Given the description of an element on the screen output the (x, y) to click on. 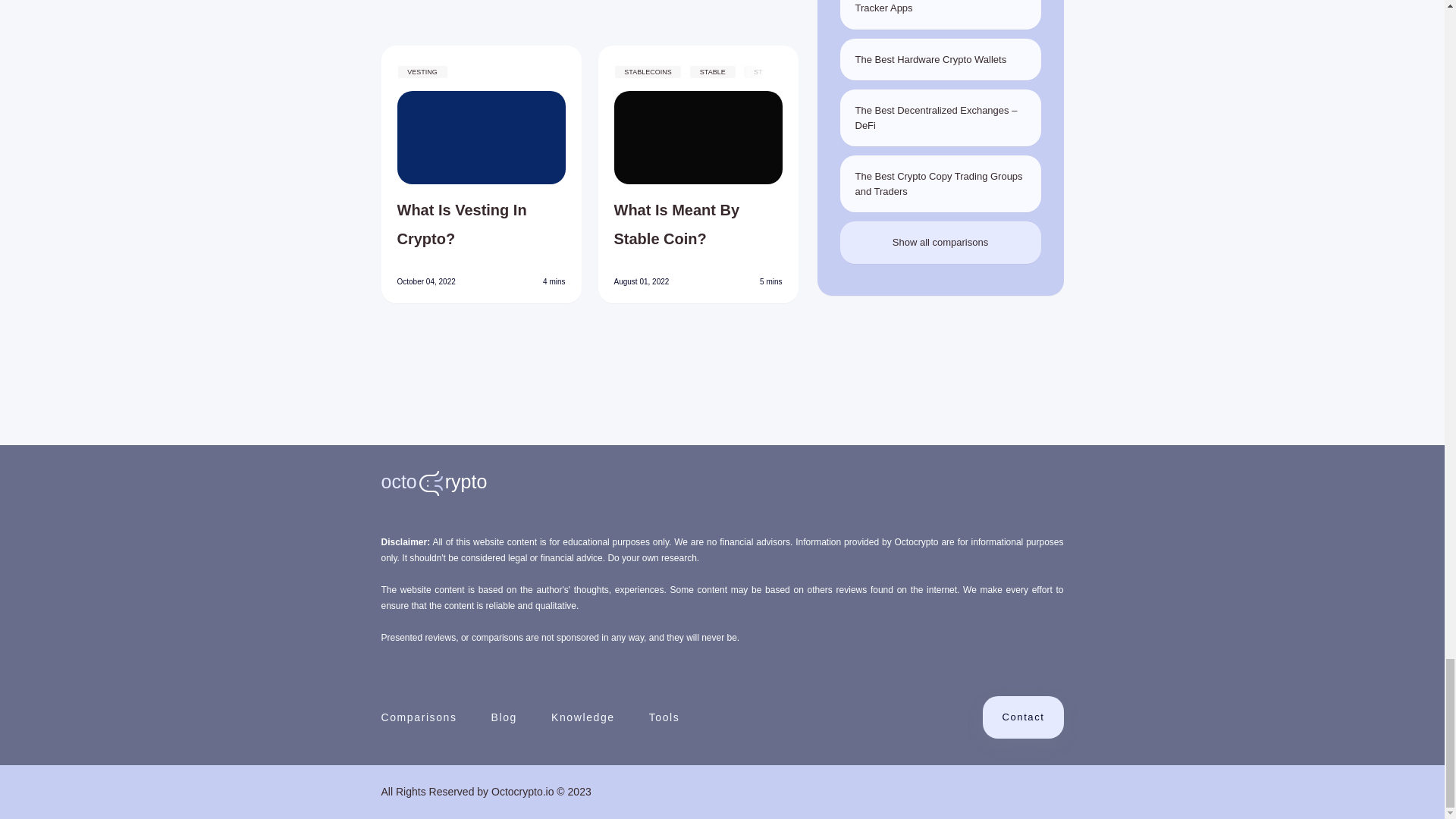
What Is Vesting In Crypto? (481, 224)
STABLECOIN (688, 81)
STABLECOINS (648, 71)
VESTING (422, 71)
What Is Meant By Stable Coin? (698, 224)
STABLE (711, 71)
